Given the description of an element on the screen output the (x, y) to click on. 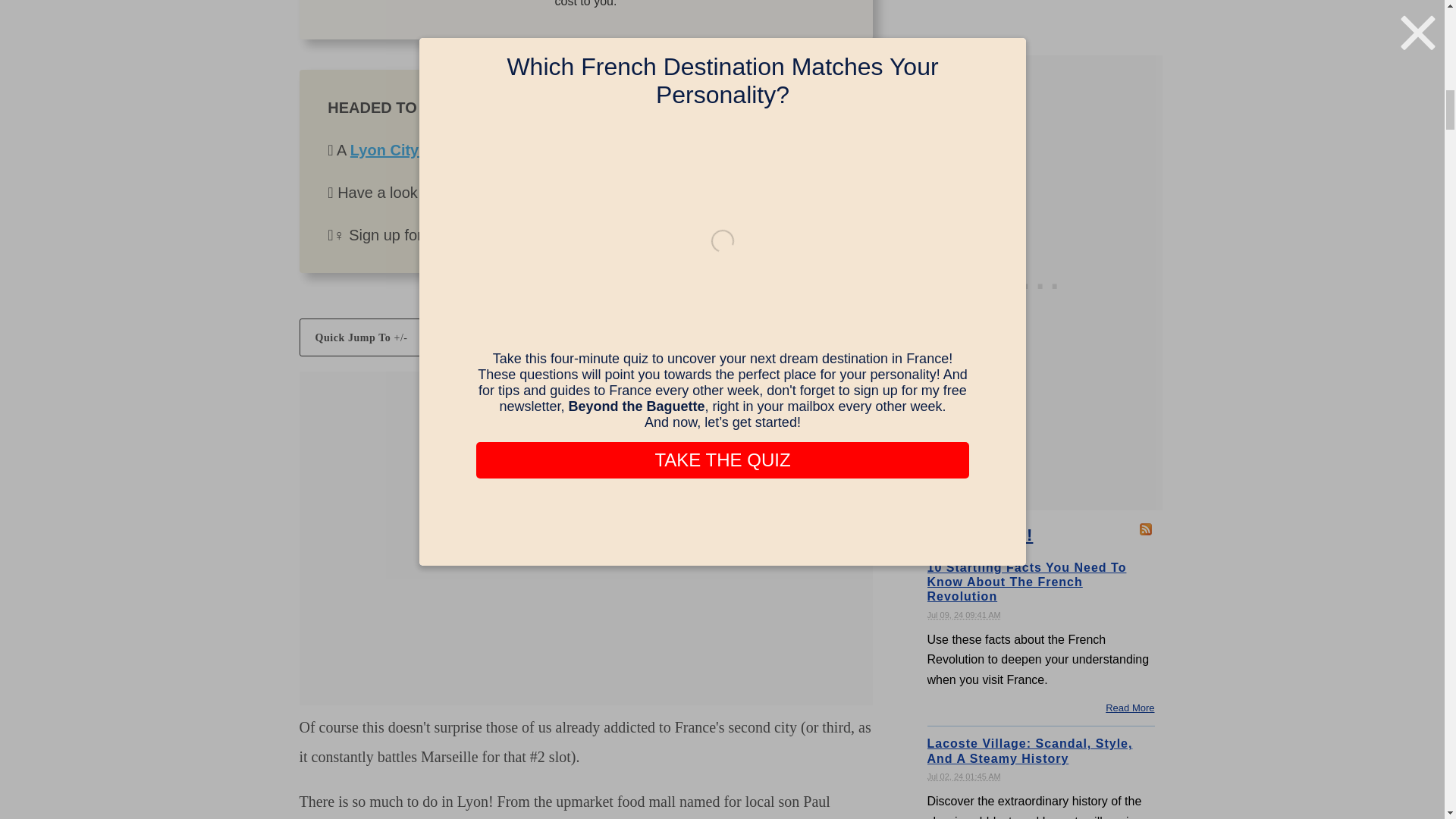
2024-07-02T01:45:48-0400 (963, 776)
2024-07-09T09:41:49-0400 (963, 614)
